Given the description of an element on the screen output the (x, y) to click on. 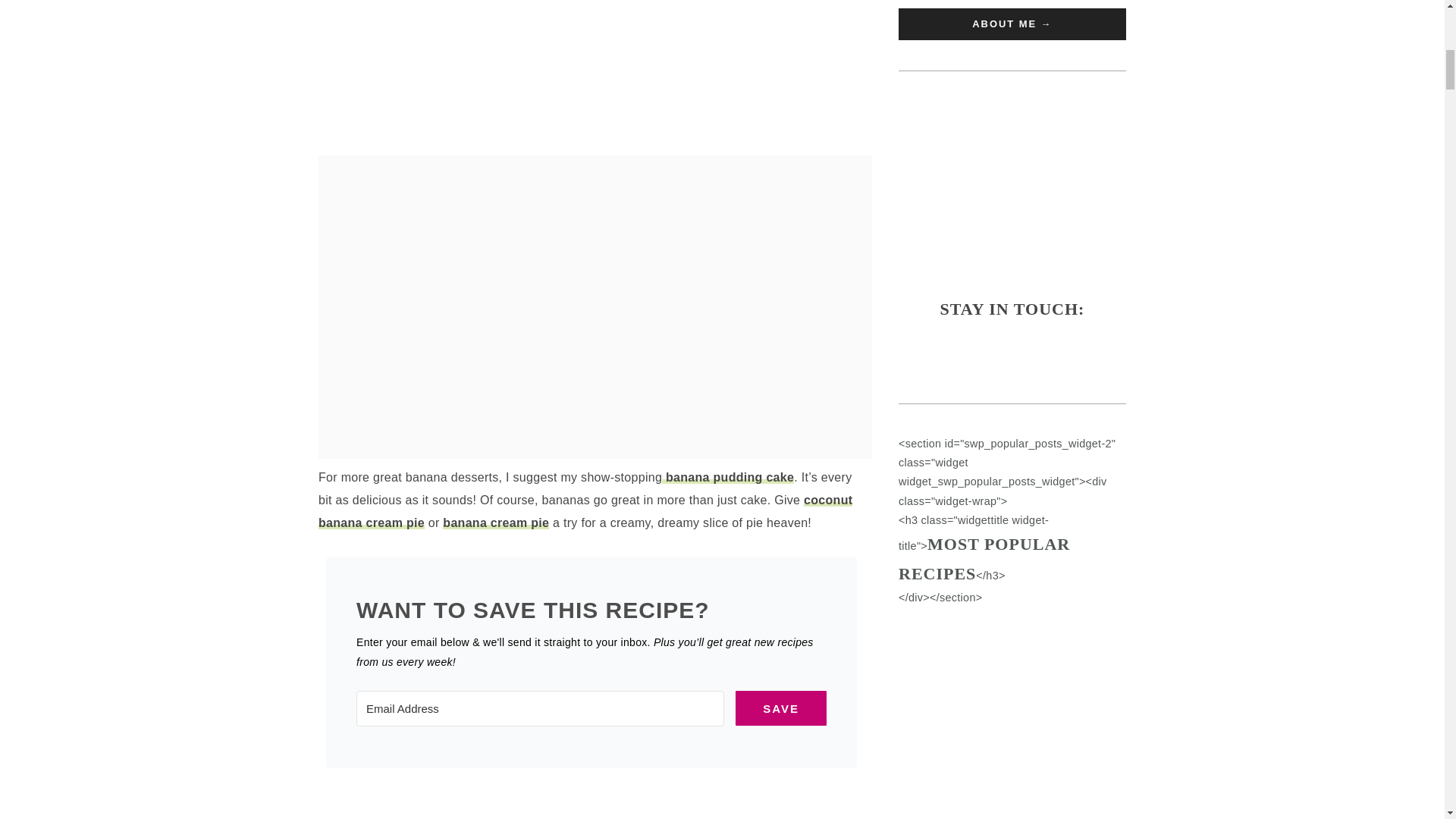
banana cream pie (495, 522)
banana pudding cake (727, 477)
coconut banana cream pie (584, 511)
